Given the description of an element on the screen output the (x, y) to click on. 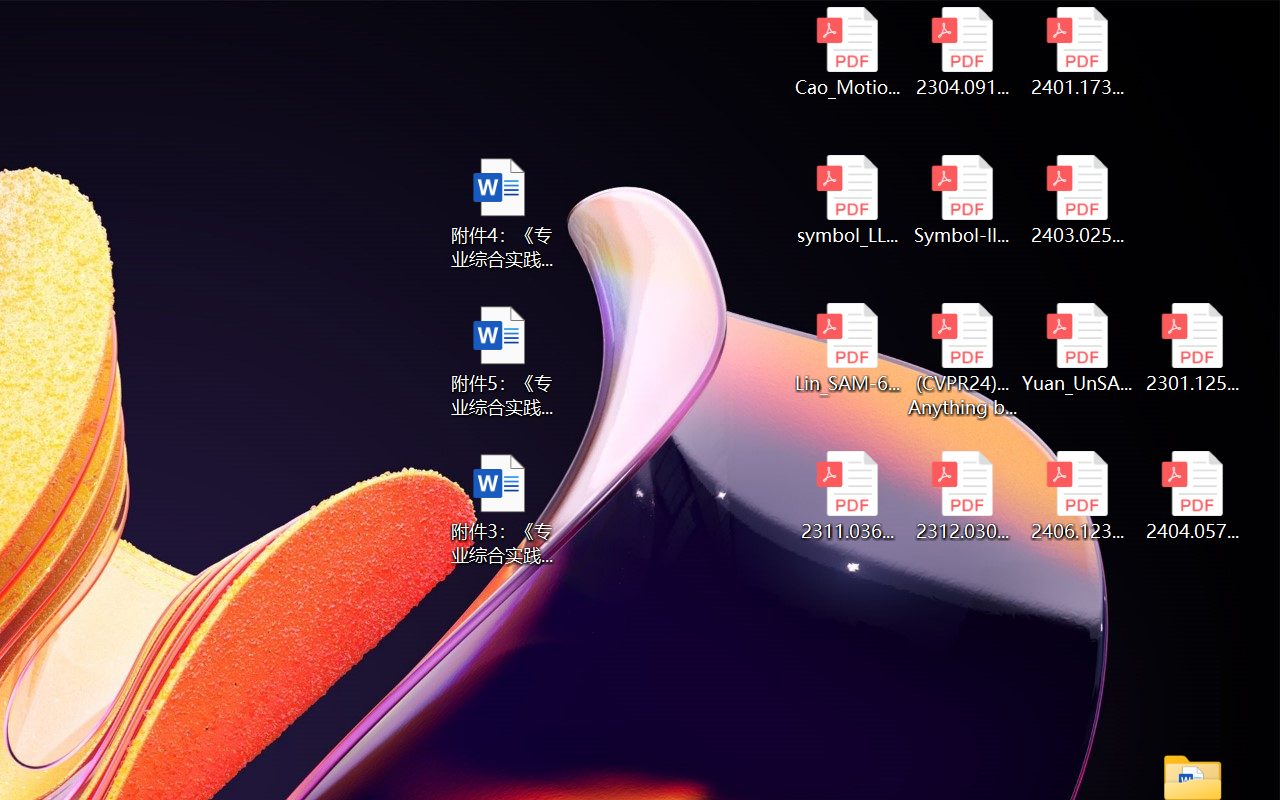
2311.03658v2.pdf (846, 496)
Symbol-llm-v2.pdf (962, 200)
2301.12597v3.pdf (1192, 348)
2401.17399v1.pdf (1077, 52)
2404.05719v1.pdf (1192, 496)
(CVPR24)Matching Anything by Segmenting Anything.pdf (962, 360)
2312.03032v2.pdf (962, 496)
2406.12373v2.pdf (1077, 496)
2304.09121v3.pdf (962, 52)
2403.02502v1.pdf (1077, 200)
symbol_LLM.pdf (846, 200)
